Given the description of an element on the screen output the (x, y) to click on. 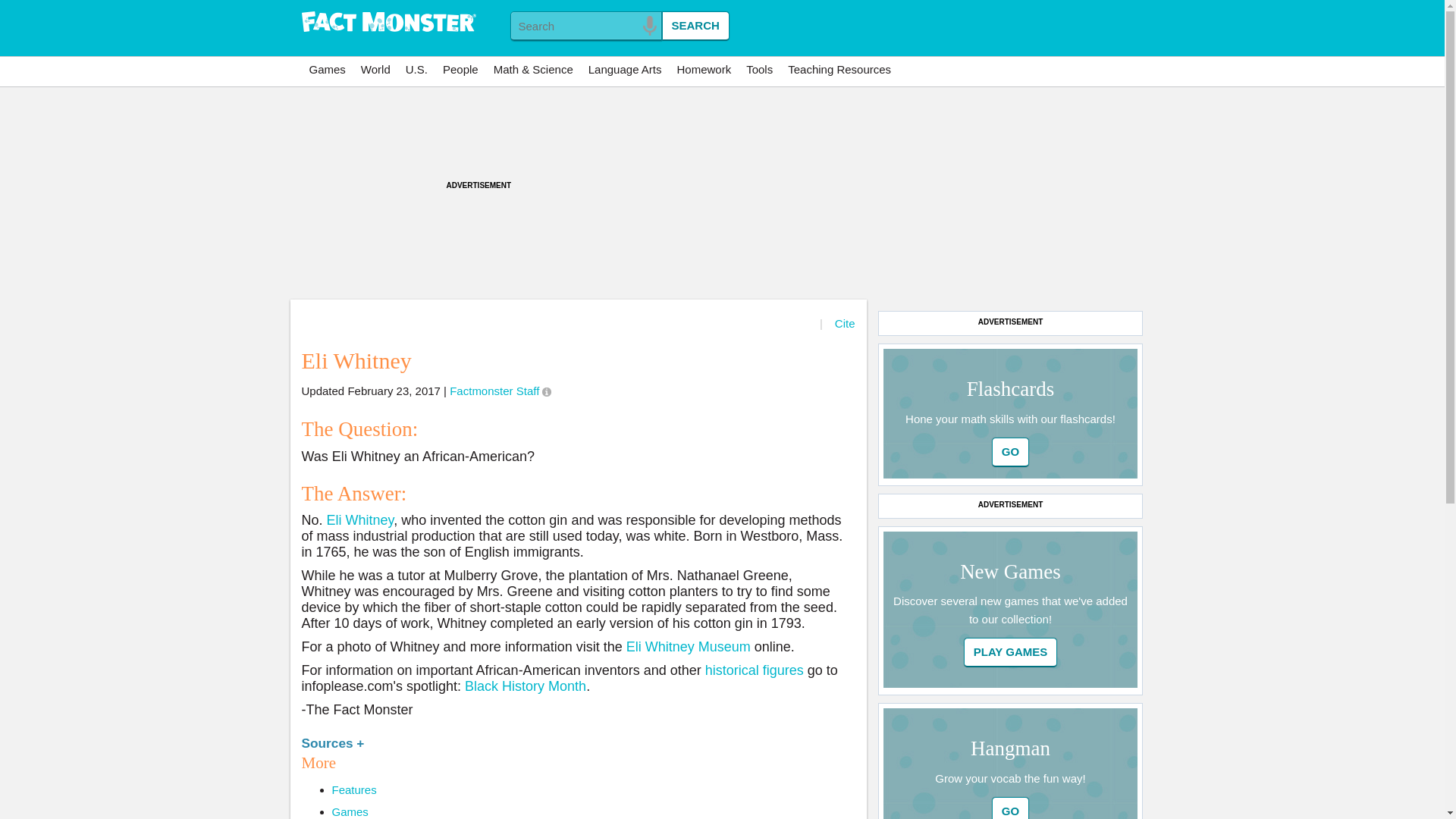
Search (695, 25)
Go (1010, 807)
Go (1010, 451)
Go (1010, 652)
Visit our teacher resource sister site! (839, 69)
Go (1010, 451)
Updated by an Factmonster Editor on February 23, 2017 (546, 391)
U.S. (416, 69)
Home (387, 22)
Search (695, 25)
